Given the description of an element on the screen output the (x, y) to click on. 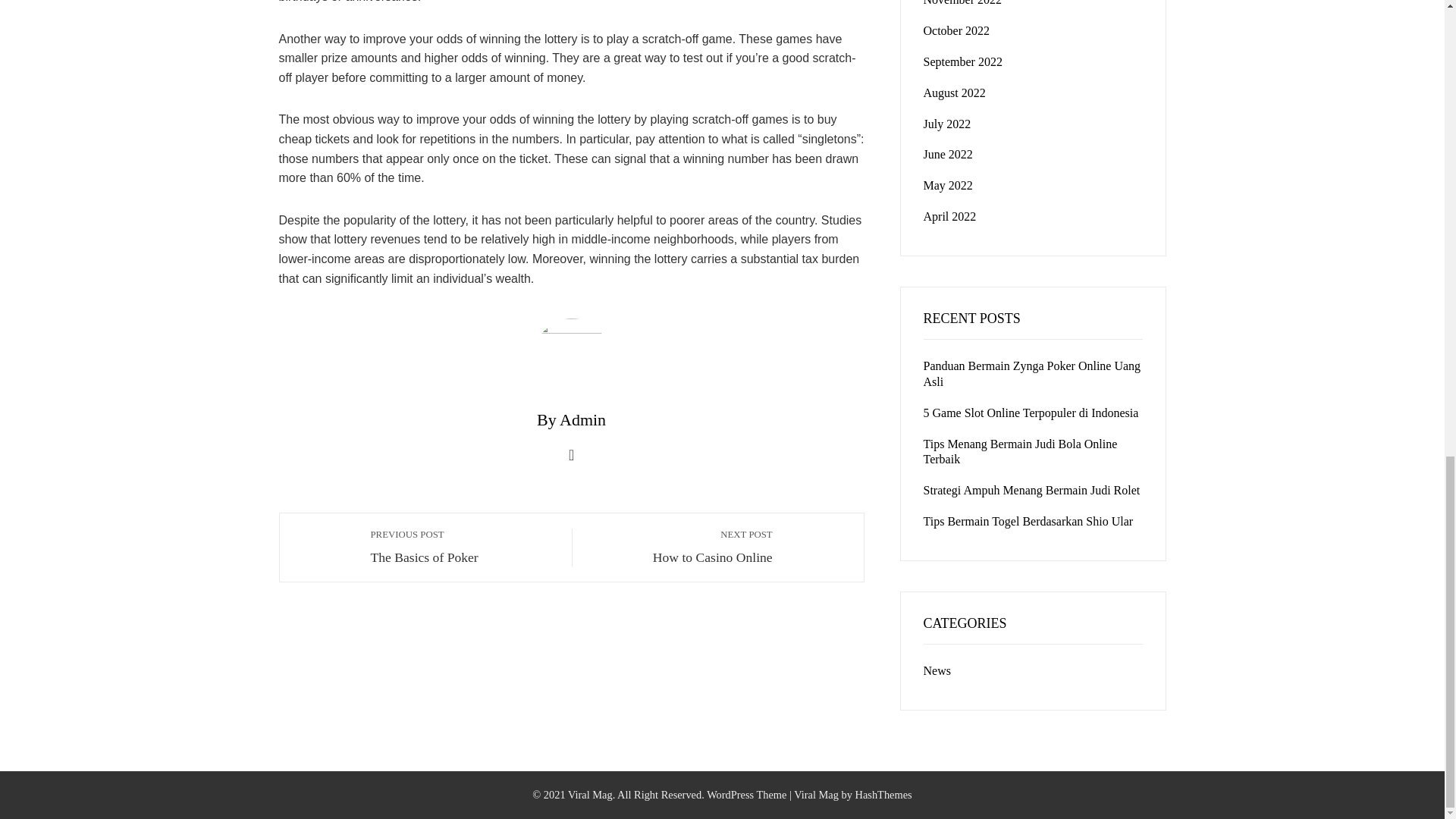
November 2022 (462, 546)
September 2022 (963, 2)
Download Viral News (963, 61)
October 2022 (680, 546)
